Given the description of an element on the screen output the (x, y) to click on. 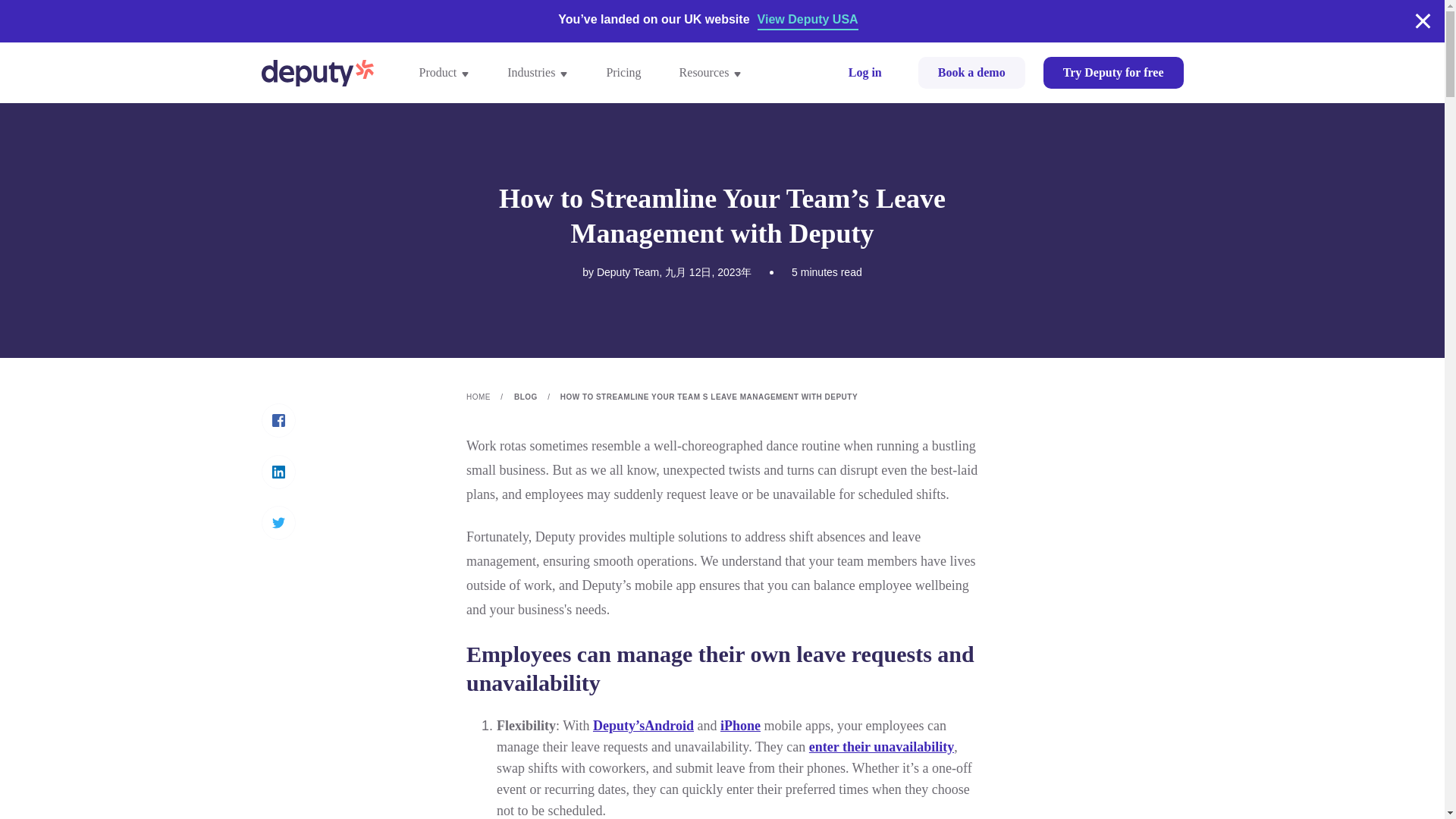
iPhone (740, 725)
Pricing (622, 72)
View Deputy USA (808, 21)
Android (669, 725)
BLOG (535, 397)
Log in (864, 72)
enter their unavailability (881, 746)
Try Deputy for free (1113, 72)
Book a demo (971, 72)
HOME (488, 397)
